Given the description of an element on the screen output the (x, y) to click on. 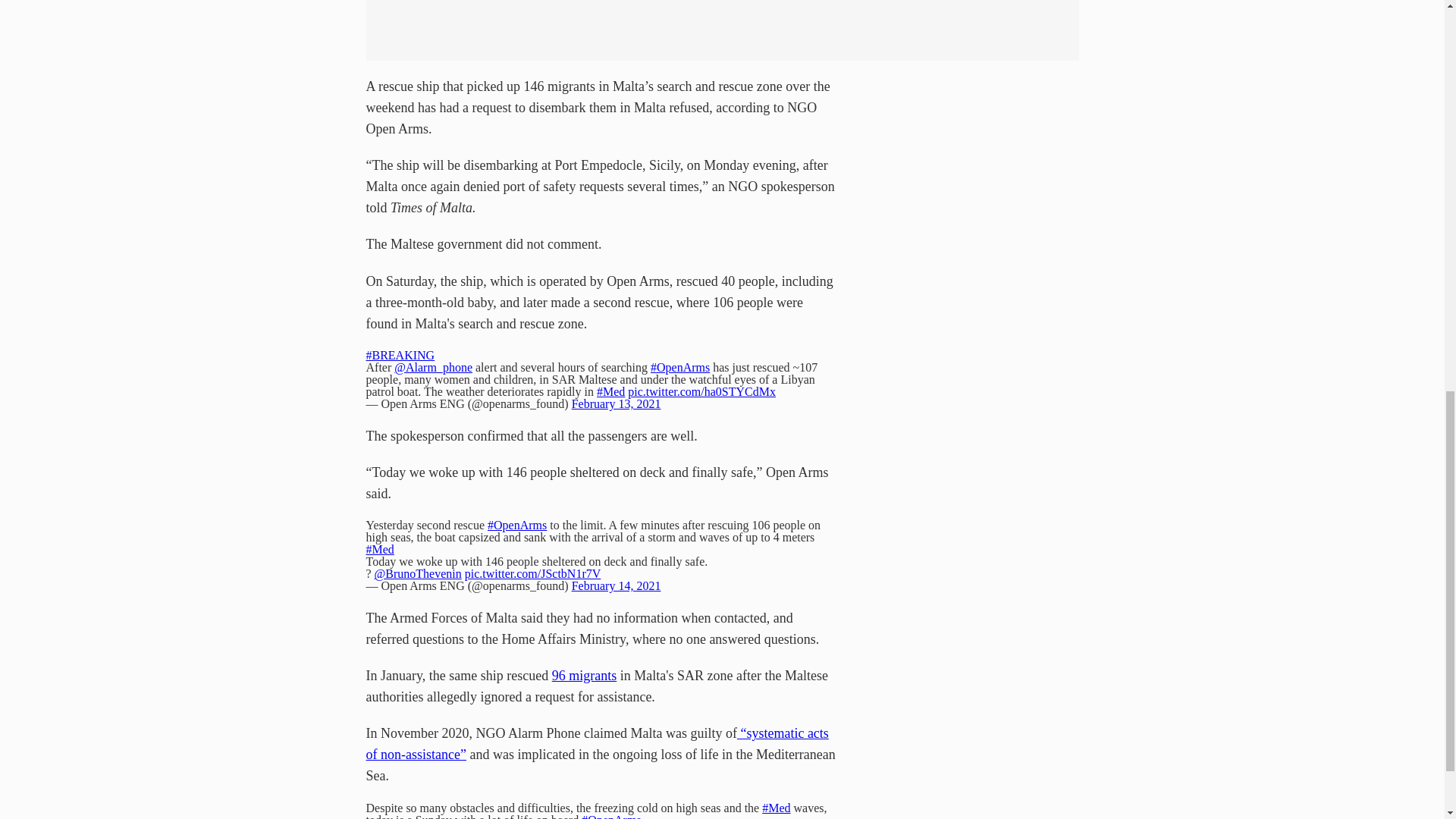
February 14, 2021 (616, 585)
February 13, 2021 (616, 403)
96 migrants (584, 675)
